Given the description of an element on the screen output the (x, y) to click on. 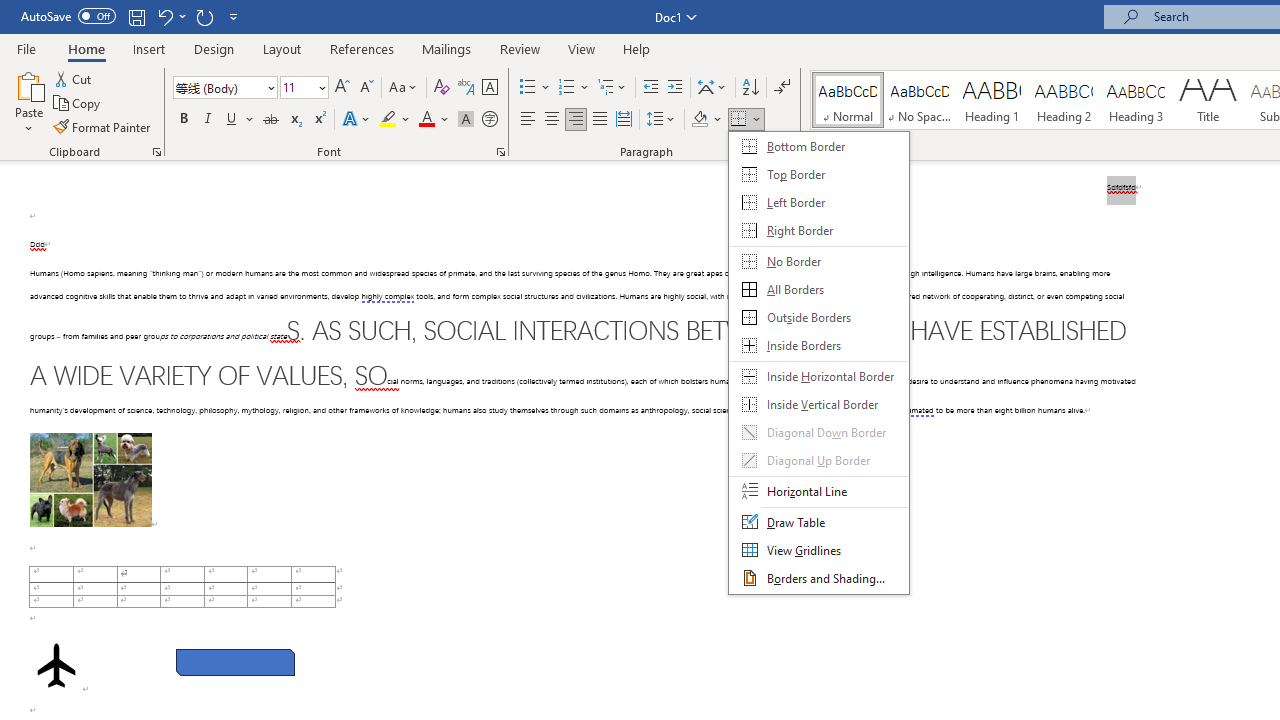
Justify (599, 119)
Decrease Indent (650, 87)
System (10, 11)
Undo Paragraph Alignment (170, 15)
Shading RGB(0, 0, 0) (699, 119)
Underline (232, 119)
Enclose Characters... (489, 119)
Borders (739, 119)
Phonetic Guide... (465, 87)
Insert (149, 48)
Shrink Font (365, 87)
Numbering (573, 87)
Superscript (319, 119)
Title (1208, 100)
Copy (78, 103)
